Given the description of an element on the screen output the (x, y) to click on. 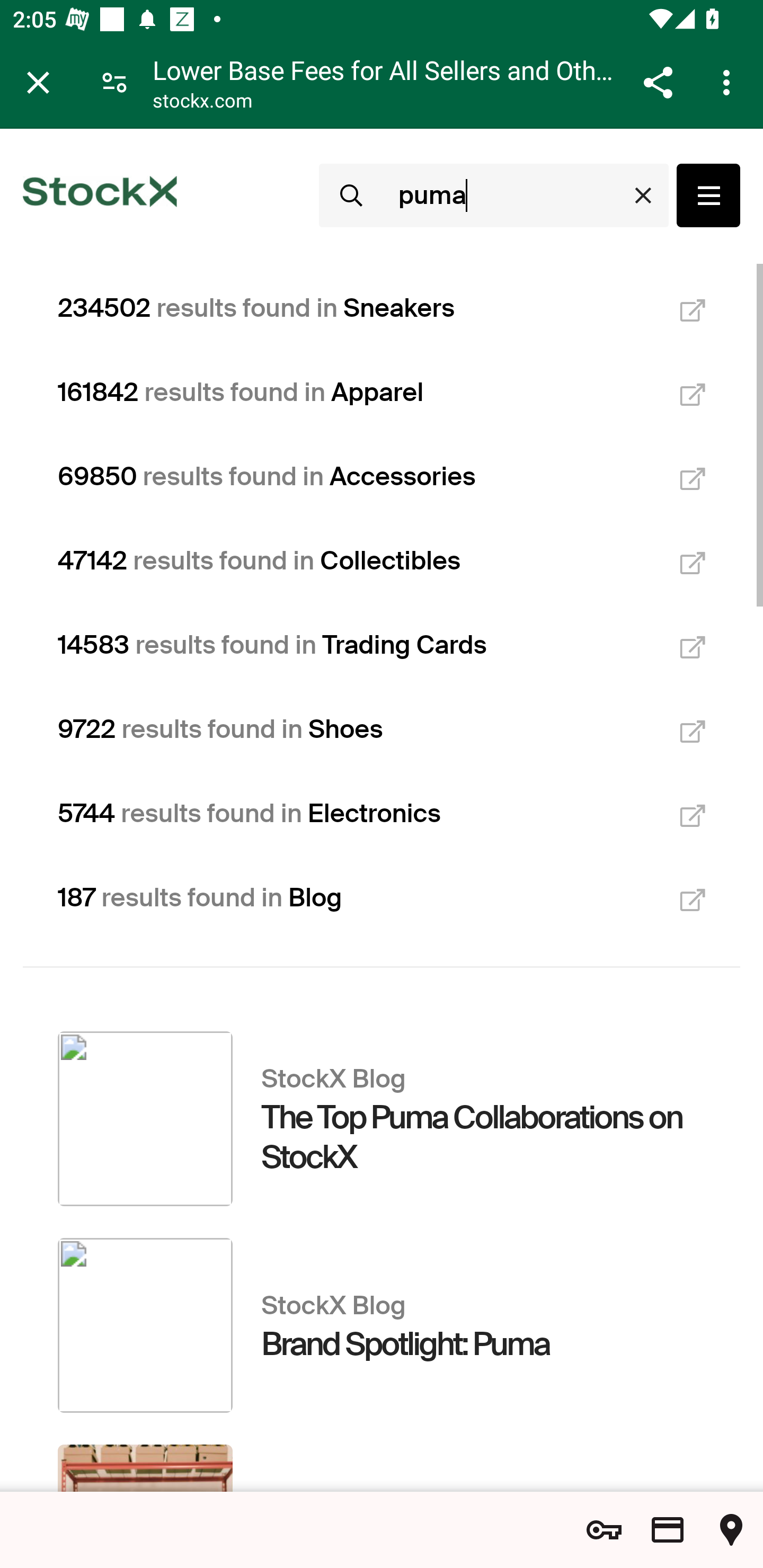
Close tab (38, 82)
Share (657, 82)
Customize and control Google Chrome (729, 82)
Connection is secure (114, 81)
stockx.com (202, 103)
stockx (99, 195)
 (350, 195)
puma (525, 195)
 (707, 195)
 (642, 195)
Show saved passwords and password options (603, 1530)
Show saved payment methods (667, 1530)
Show saved addresses (731, 1530)
